Given the description of an element on the screen output the (x, y) to click on. 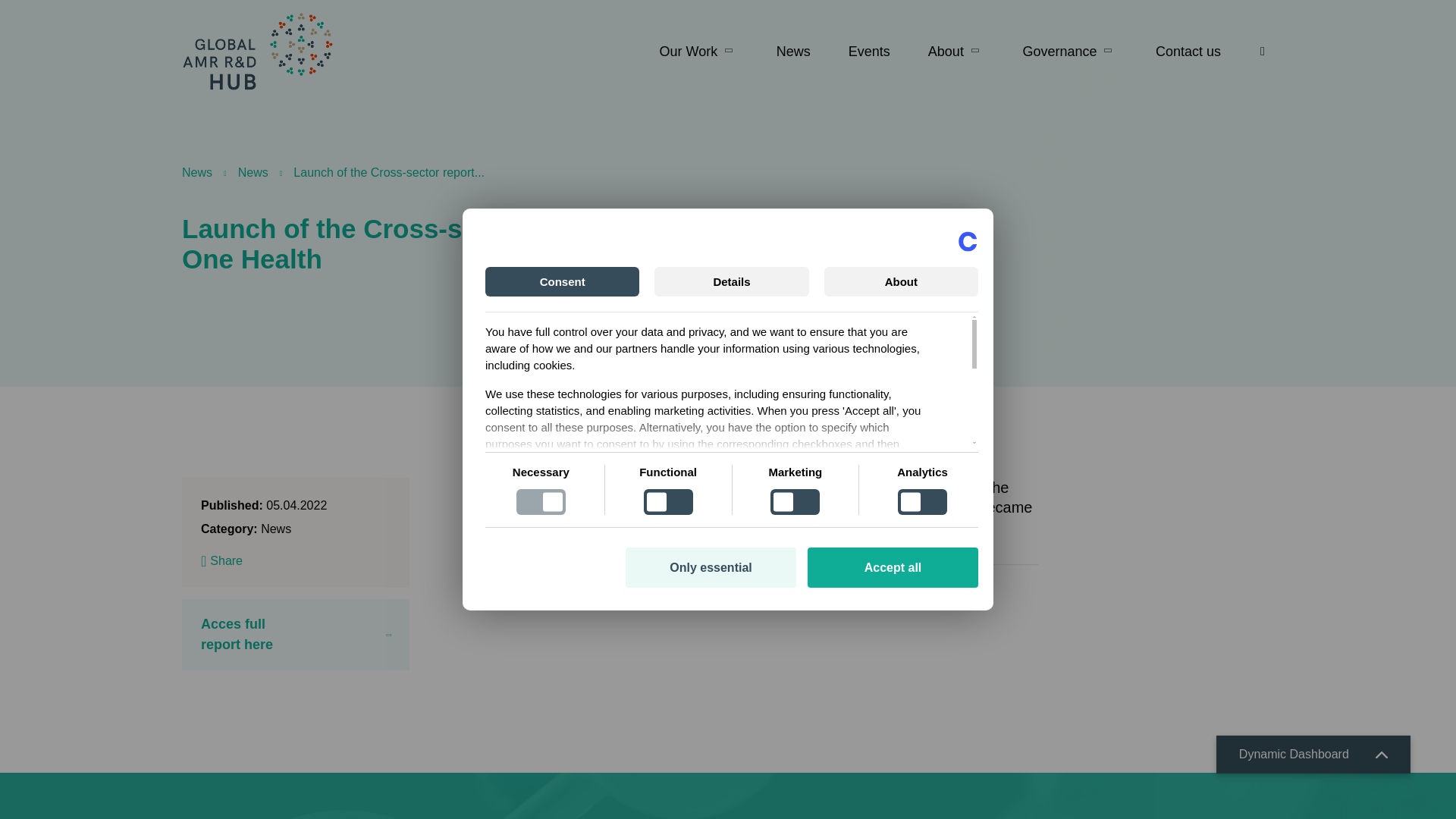
News (793, 51)
Governance (1070, 51)
Our Work (706, 51)
Events (868, 51)
About (956, 51)
Contact us (1180, 51)
